Given the description of an element on the screen output the (x, y) to click on. 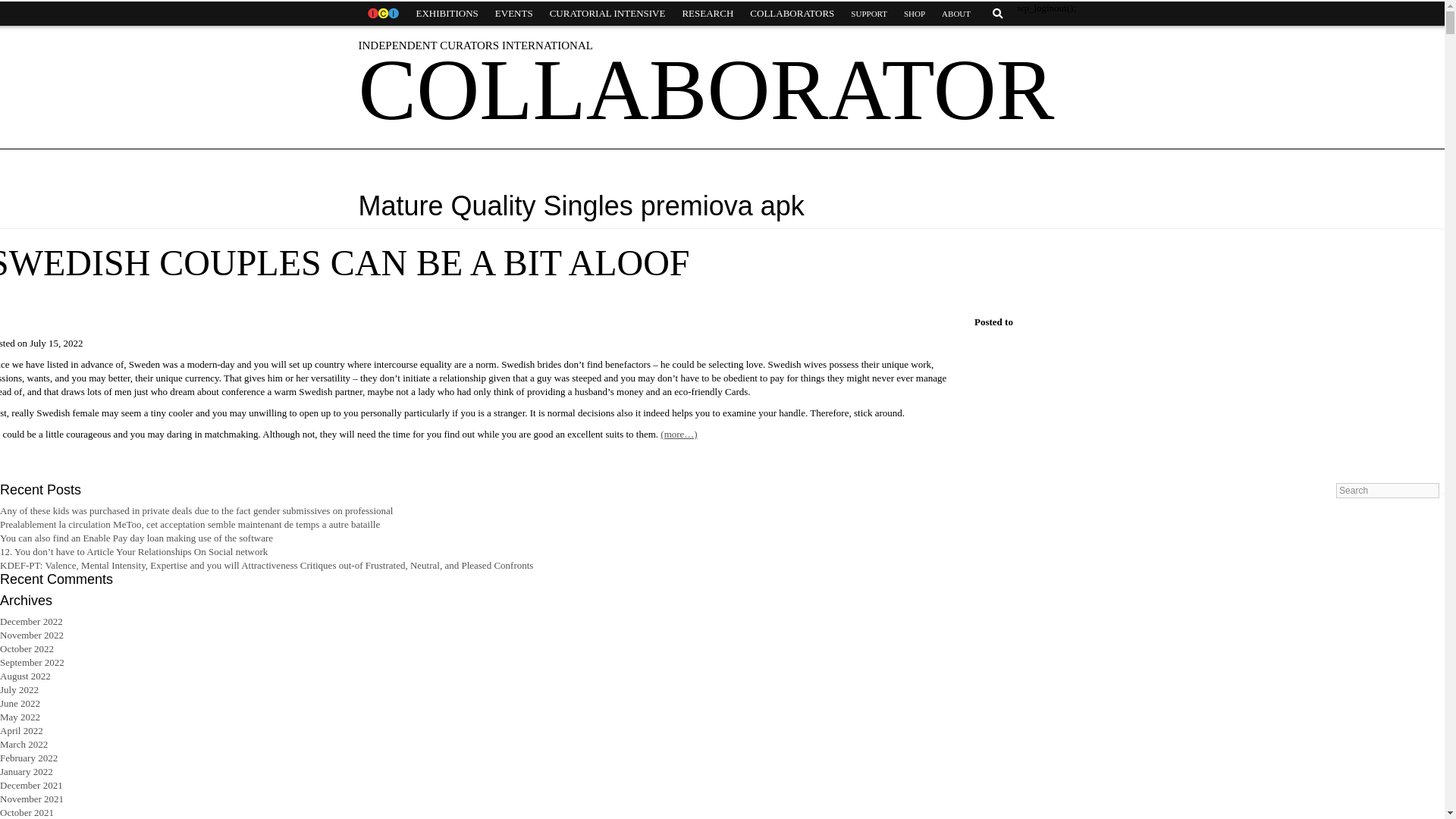
HOME (382, 13)
EXHIBITIONS (446, 13)
CURATORIAL INTENSIVE (607, 13)
EVENTS (513, 13)
RESEARCH (706, 13)
COLLABORATORS (792, 13)
